Given the description of an element on the screen output the (x, y) to click on. 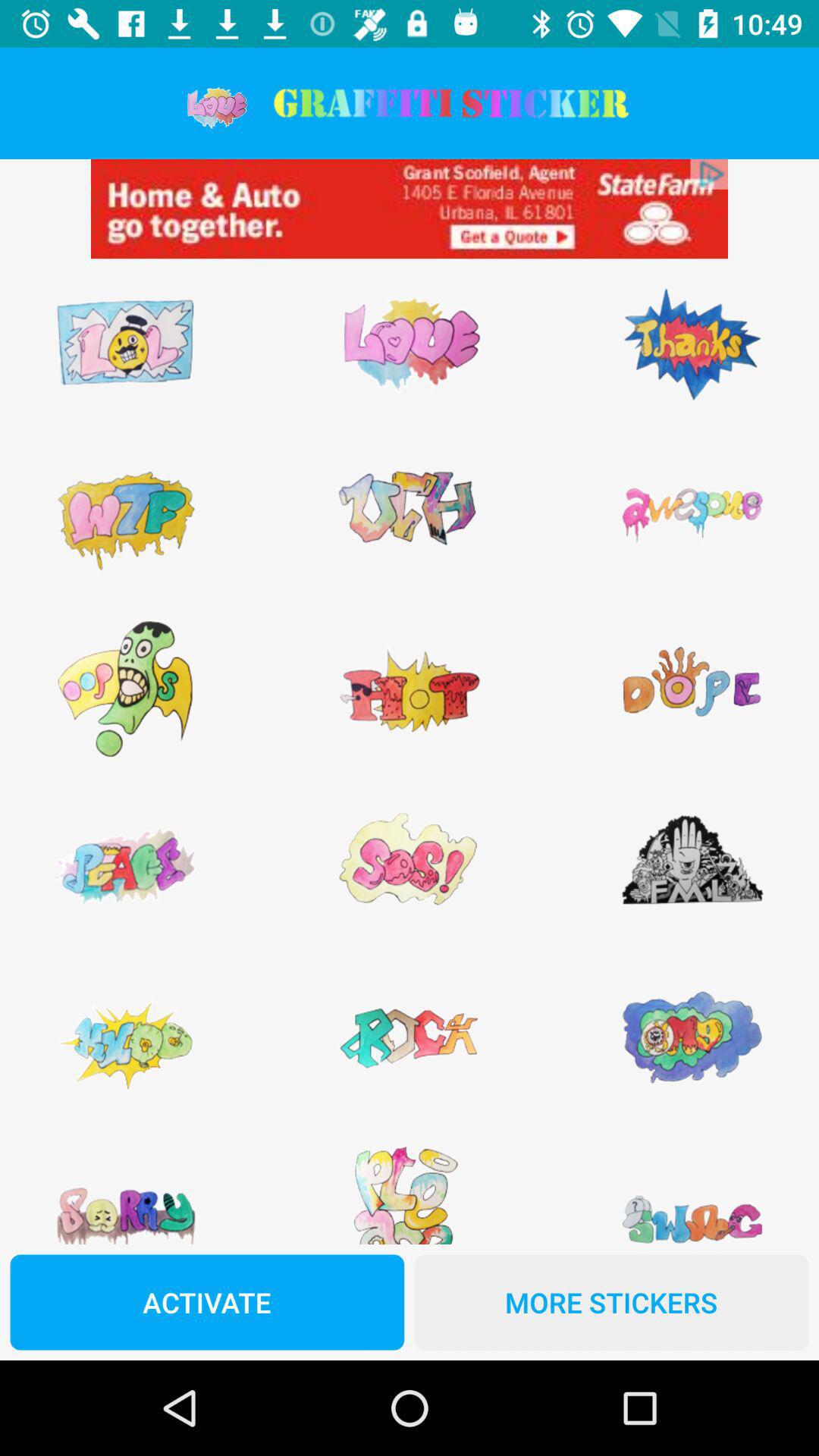
advertisements are displayed (409, 208)
